Given the description of an element on the screen output the (x, y) to click on. 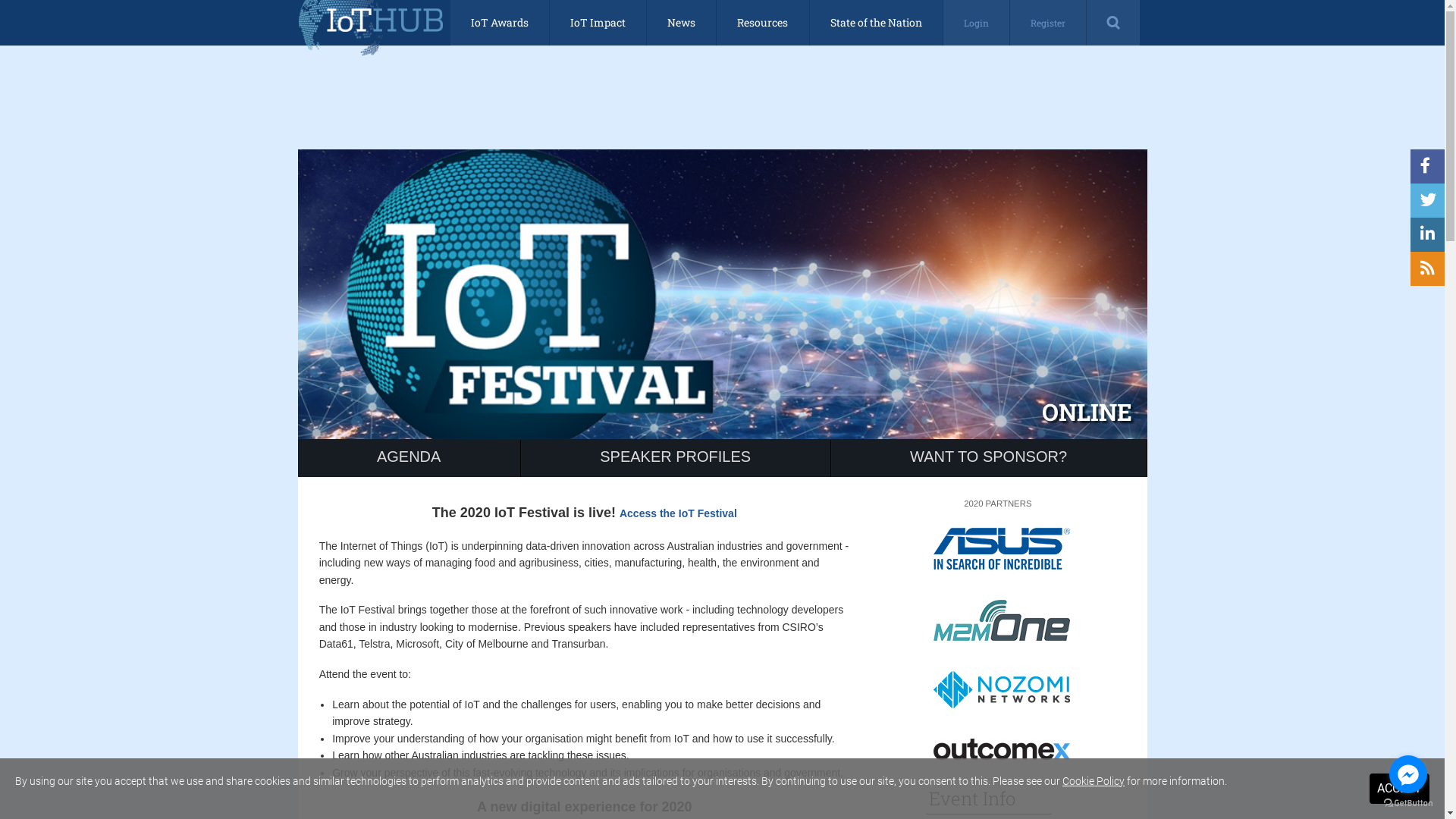
Register Element type: text (1047, 22)
SPEAKER PROFILES Element type: text (675, 457)
Access the IoT Festival Element type: text (678, 513)
IoT Impact Element type: text (597, 22)
WANT TO SPONSOR? Element type: text (989, 457)
ACCEPT Element type: text (1399, 788)
AGENDA Element type: text (408, 457)
State of the Nation Element type: text (875, 22)
News Element type: text (680, 22)
Cookie Policy Element type: text (1093, 781)
Login Element type: text (976, 22)
IoT Awards Element type: text (499, 22)
Resources Element type: text (762, 22)
